Given the description of an element on the screen output the (x, y) to click on. 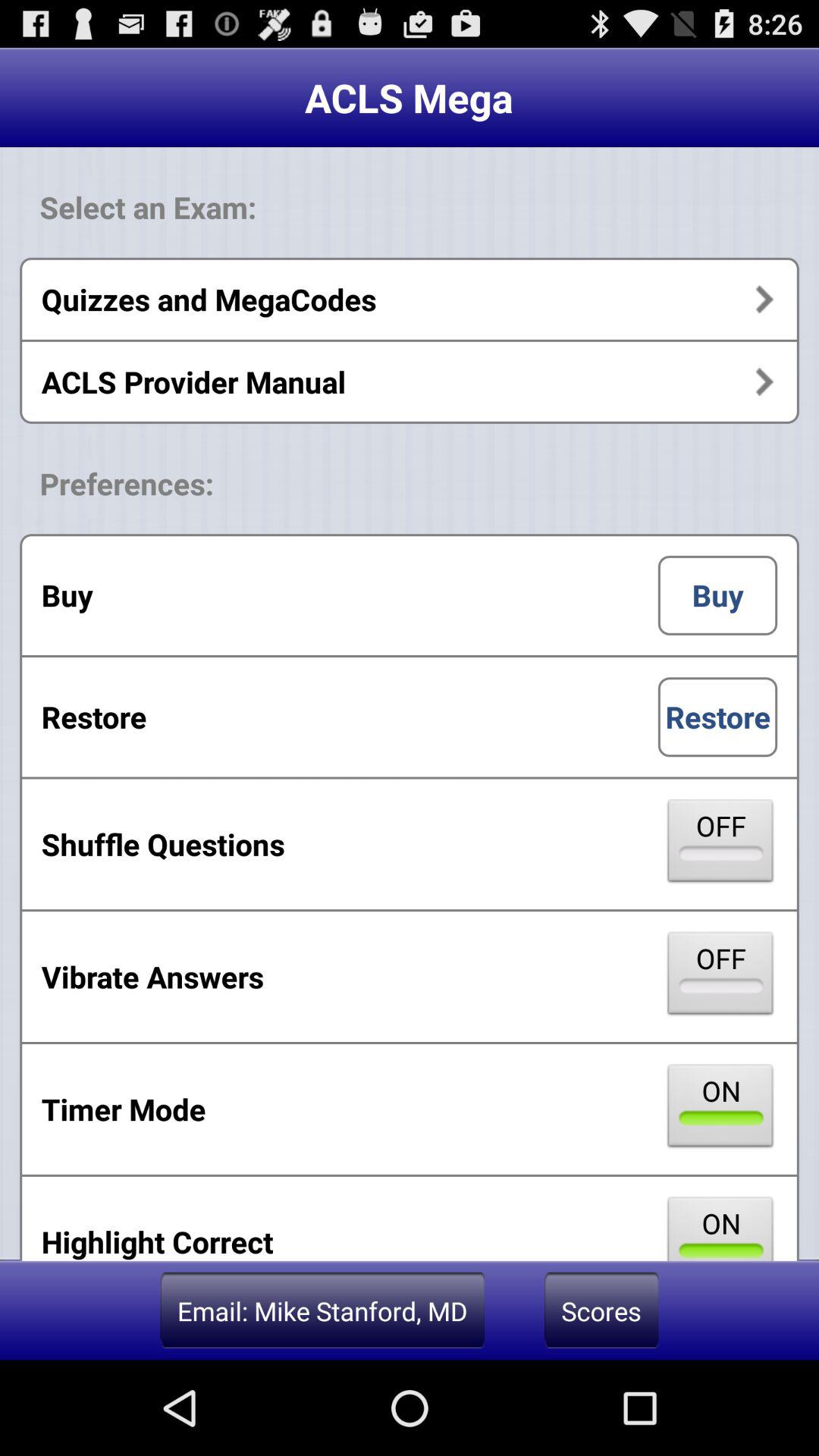
select app below the select an exam: item (409, 299)
